Given the description of an element on the screen output the (x, y) to click on. 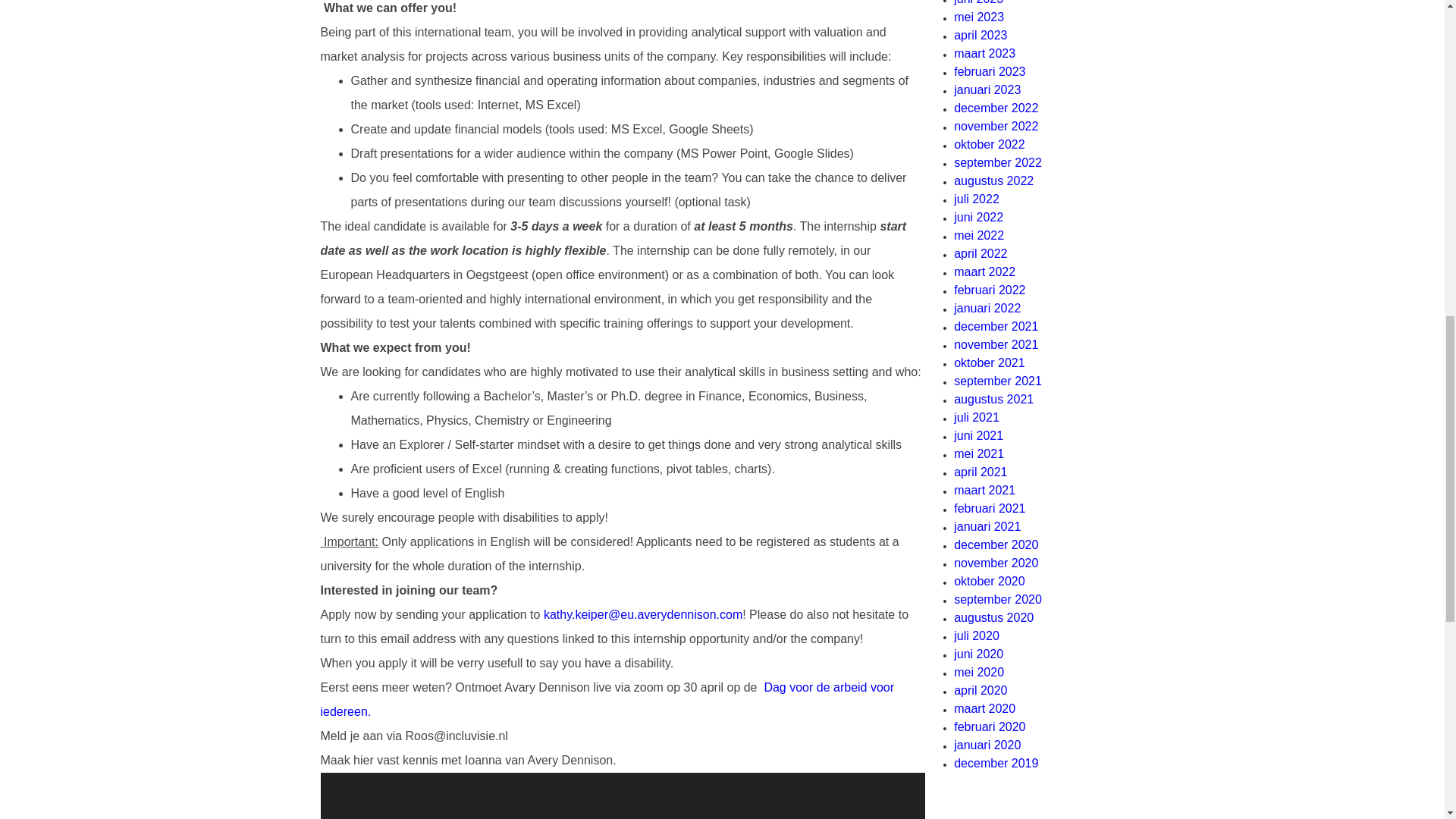
Dag voor de arbeid voor iedereen. (606, 699)
